Given the description of an element on the screen output the (x, y) to click on. 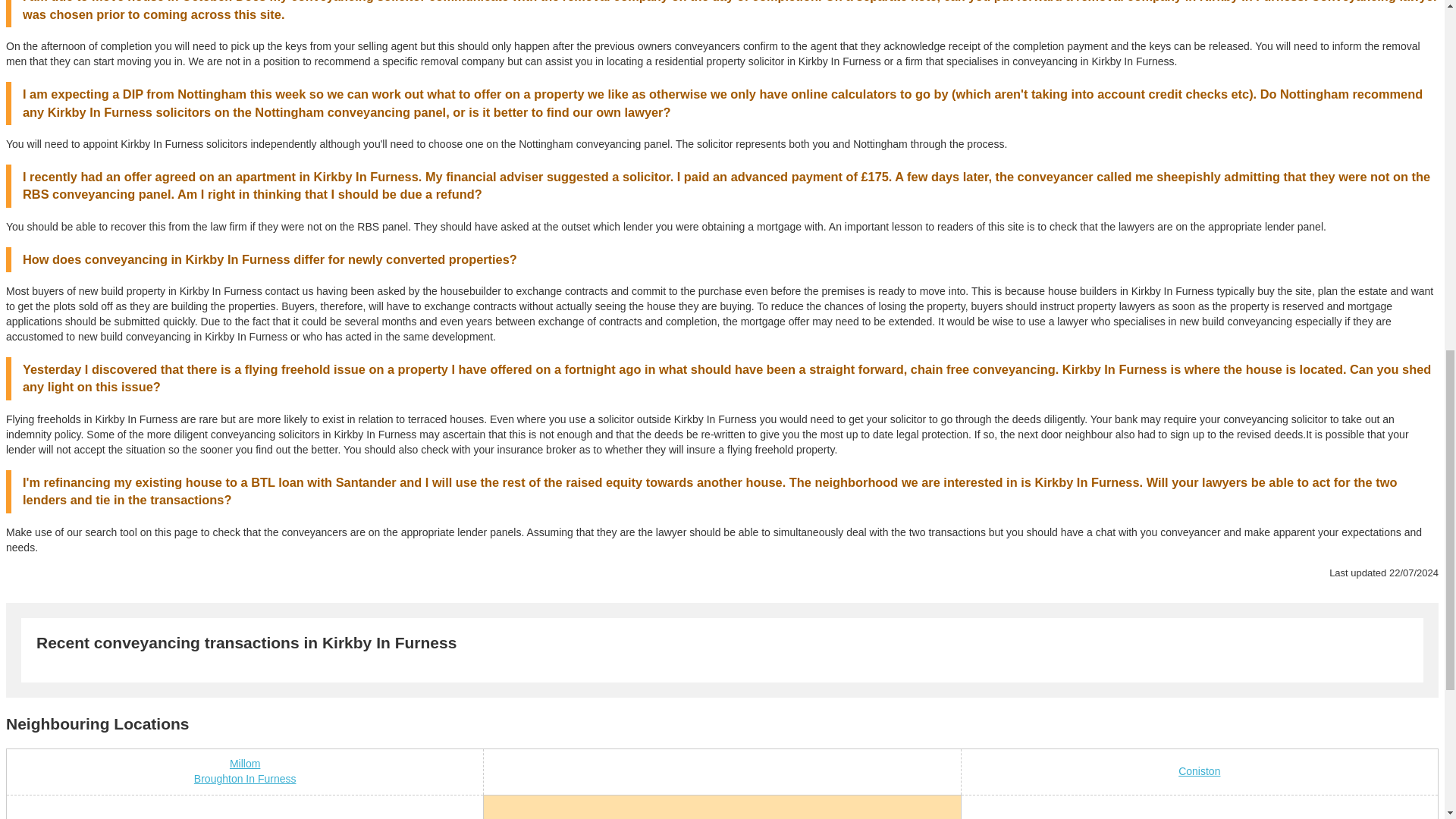
Coniston (1198, 770)
Broughton In Furness (245, 778)
Millom (245, 763)
